Given the description of an element on the screen output the (x, y) to click on. 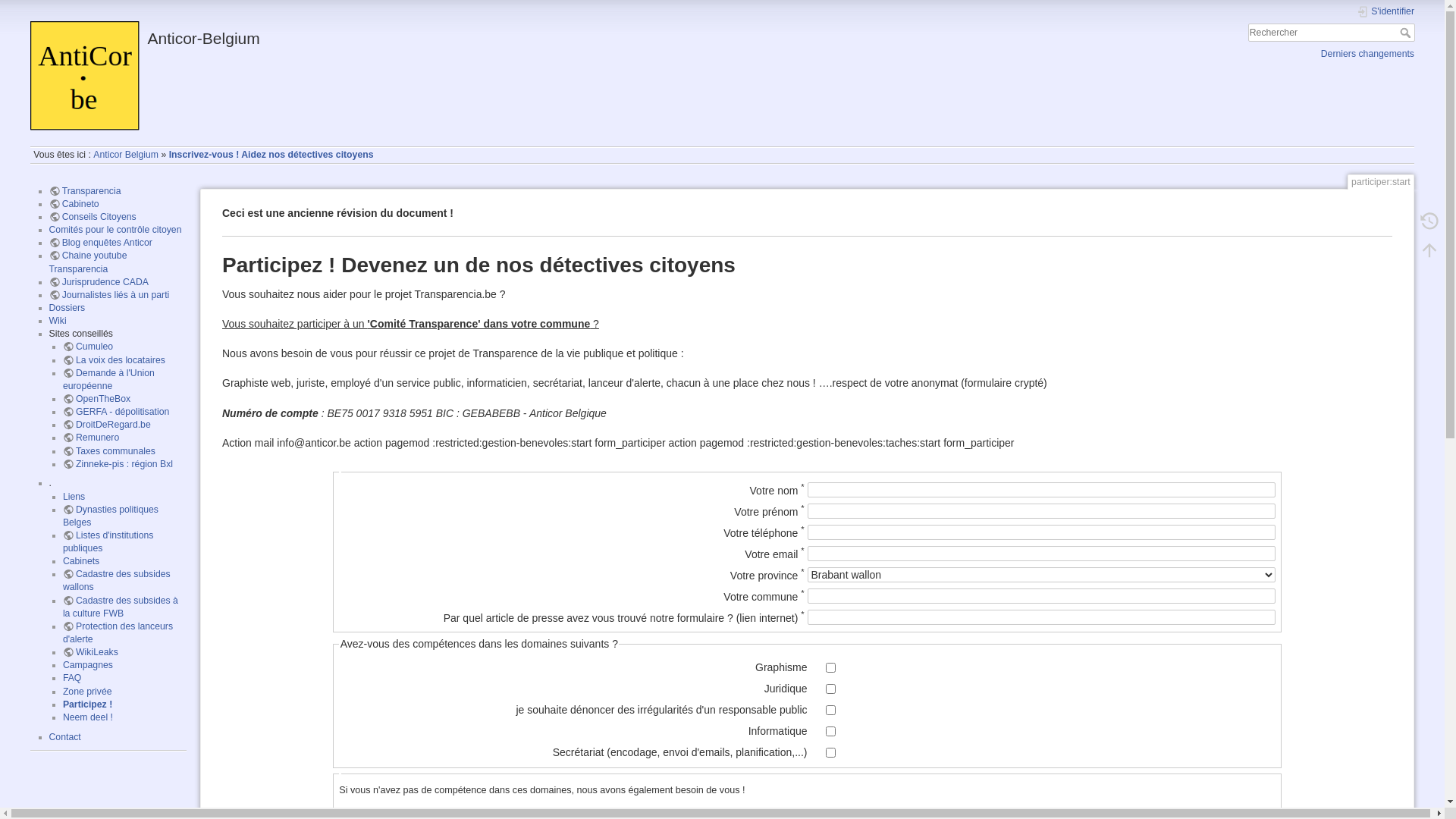
Campagnes Element type: text (87, 664)
Transparencia Element type: text (84, 190)
Participez ! Element type: text (87, 704)
DroitDeRegard.be Element type: text (106, 424)
Liens Element type: text (73, 496)
Haut de page [t] Element type: hover (1429, 249)
Chaine youtube Transparencia Element type: text (87, 261)
Cabineto Element type: text (73, 203)
Listes d'institutions publiques Element type: text (107, 541)
Derniers changements Element type: text (1367, 53)
S'identifier Element type: text (1385, 11)
Jurisprudence CADA Element type: text (98, 281)
FAQ Element type: text (71, 677)
Remunero Element type: text (90, 437)
Cabinets Element type: text (80, 560)
Conseils Citoyens Element type: text (91, 216)
Contact Element type: text (64, 736)
Cumuleo Element type: text (87, 346)
Protection des lanceurs d'alerte Element type: text (117, 632)
Taxes communales Element type: text (108, 450)
Wiki Element type: text (56, 320)
Neem deel ! Element type: text (87, 717)
Dynasties politiques Belges Element type: text (110, 515)
Dossiers Element type: text (66, 307)
Anticor-Belgium Element type: text (369, 34)
Cadastre des subsides wallons Element type: text (116, 580)
WikiLeaks Element type: text (90, 651)
Rechercher Element type: text (1406, 32)
Anticor Belgium Element type: text (125, 154)
OpenTheBox Element type: text (96, 398)
[F] Element type: hover (1331, 32)
La voix des locataires Element type: text (113, 359)
